Given the description of an element on the screen output the (x, y) to click on. 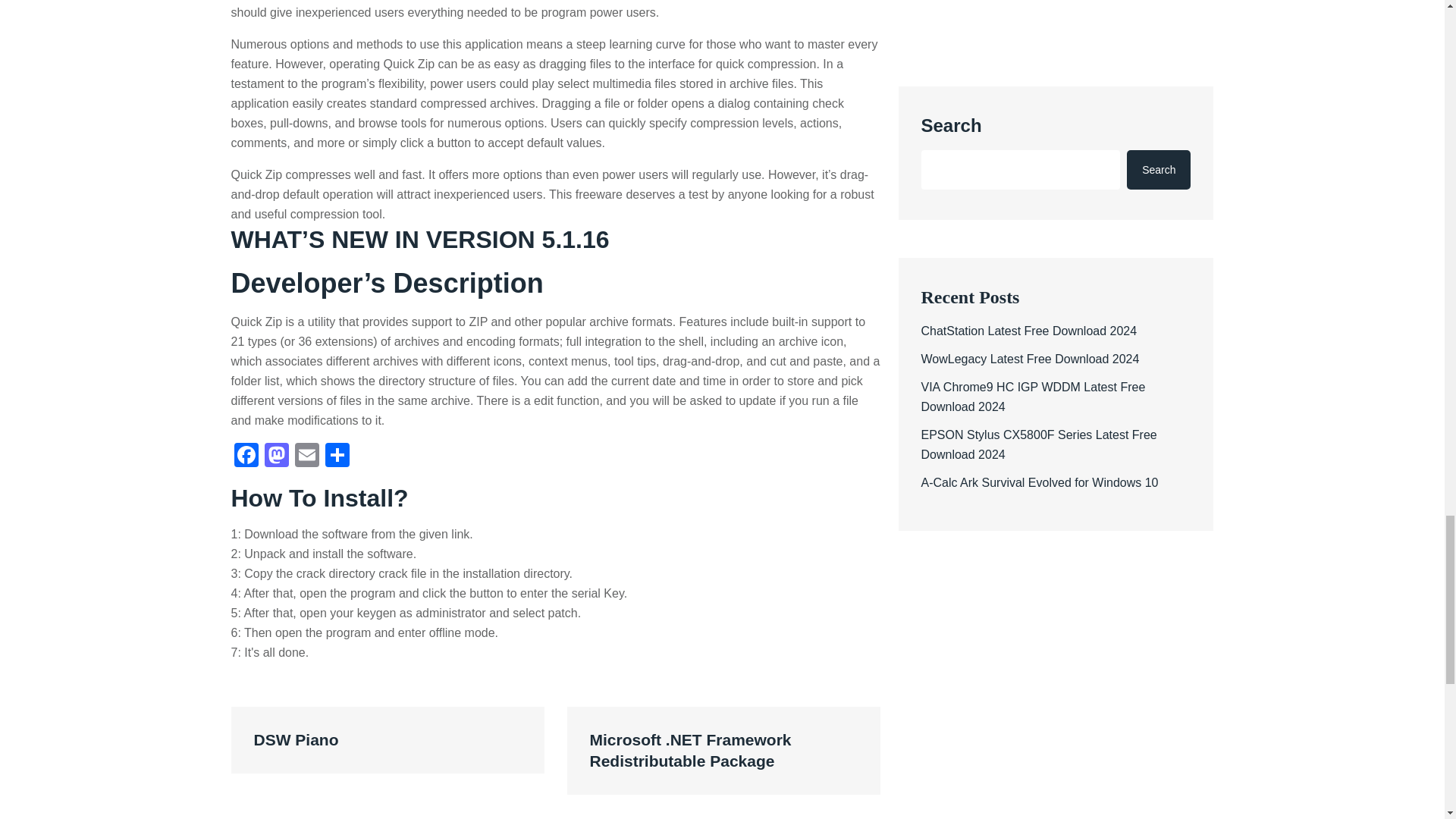
Mastodon (275, 456)
Mastodon (275, 456)
Email (306, 456)
Email (306, 456)
Facebook (245, 456)
Share (336, 456)
DSW Piano (386, 739)
Facebook (245, 456)
Microsoft .NET Framework Redistributable Package (723, 750)
